Given the description of an element on the screen output the (x, y) to click on. 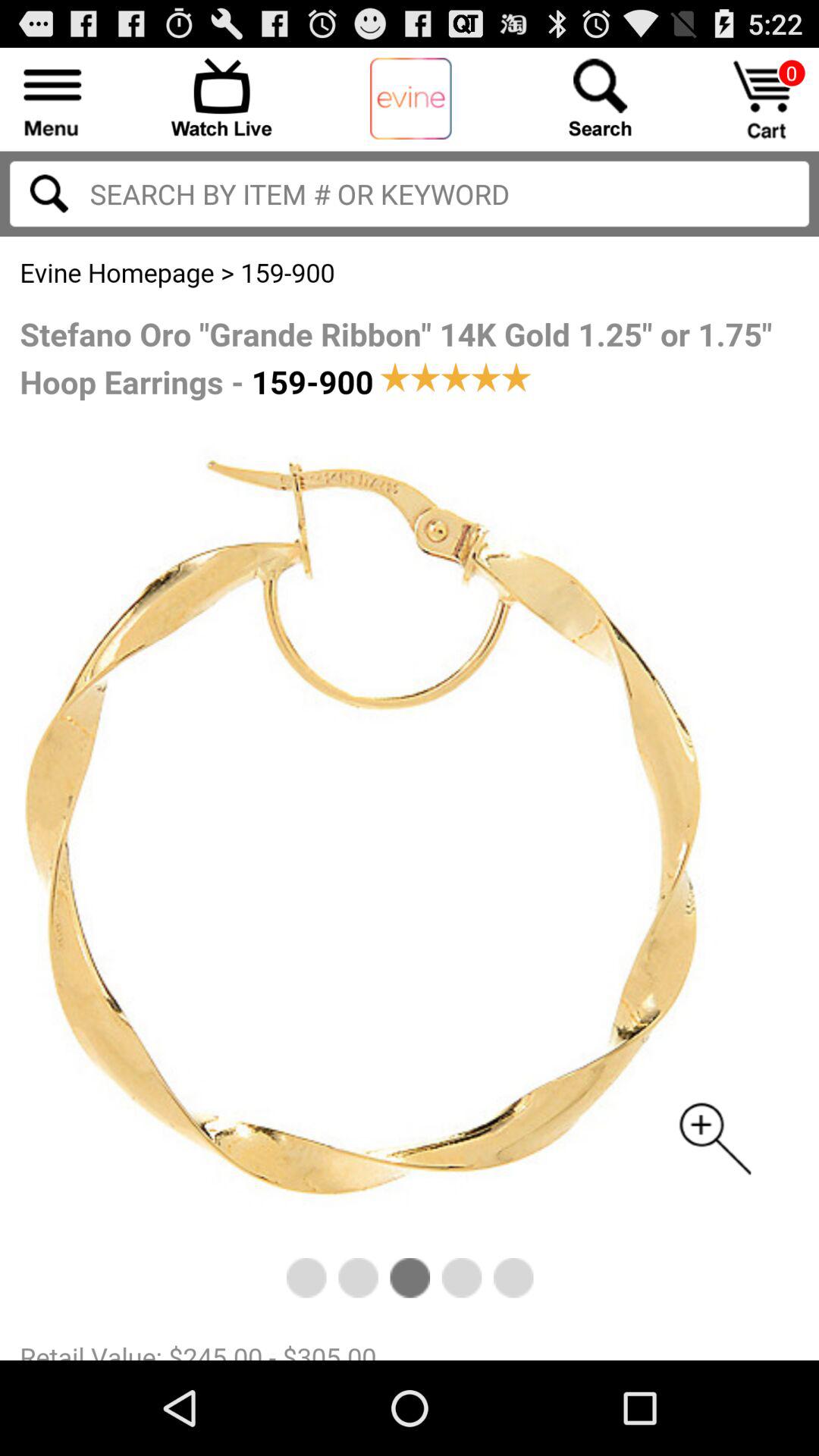
view homepage (410, 99)
